Given the description of an element on the screen output the (x, y) to click on. 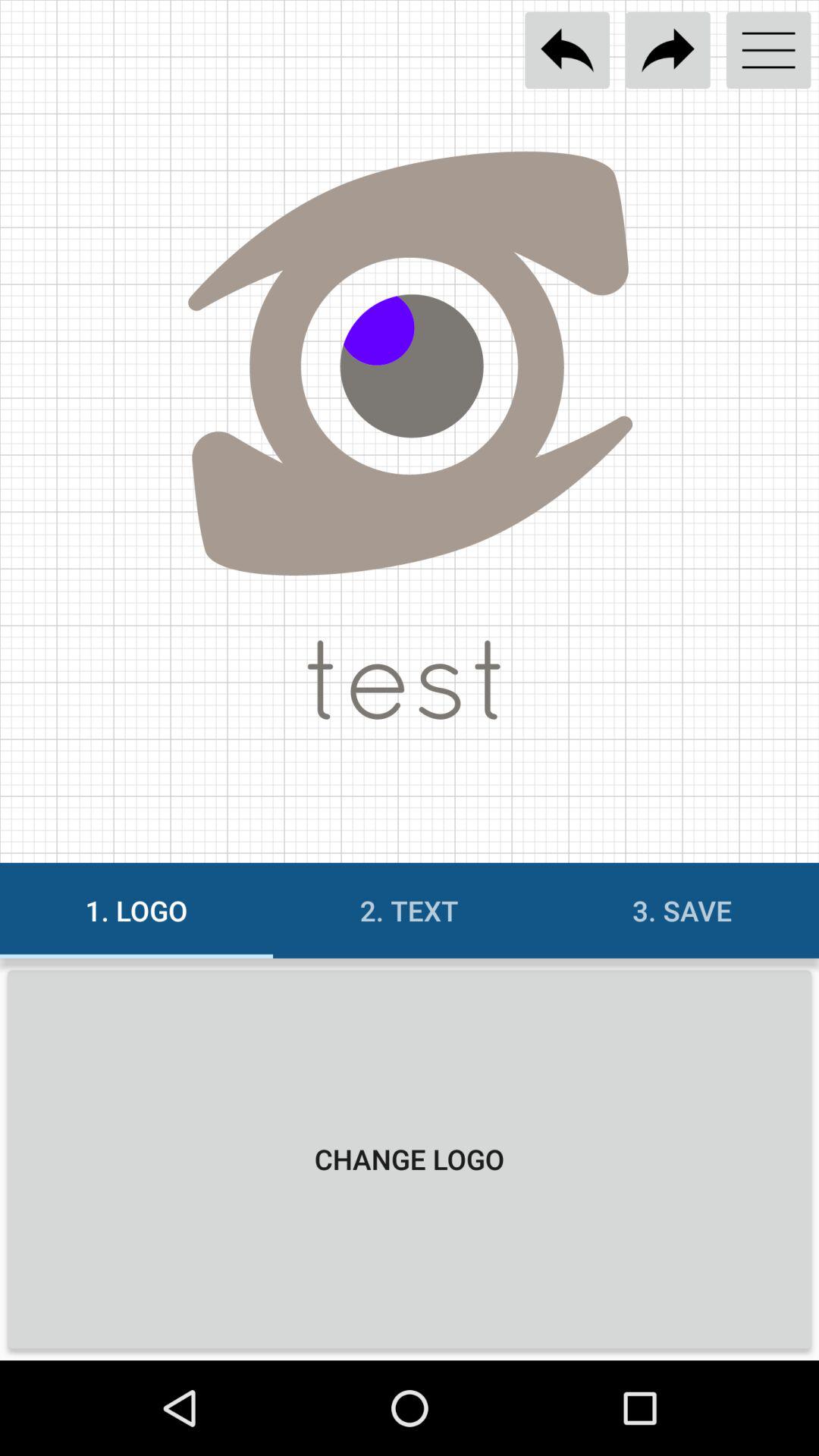
redo (667, 50)
